Given the description of an element on the screen output the (x, y) to click on. 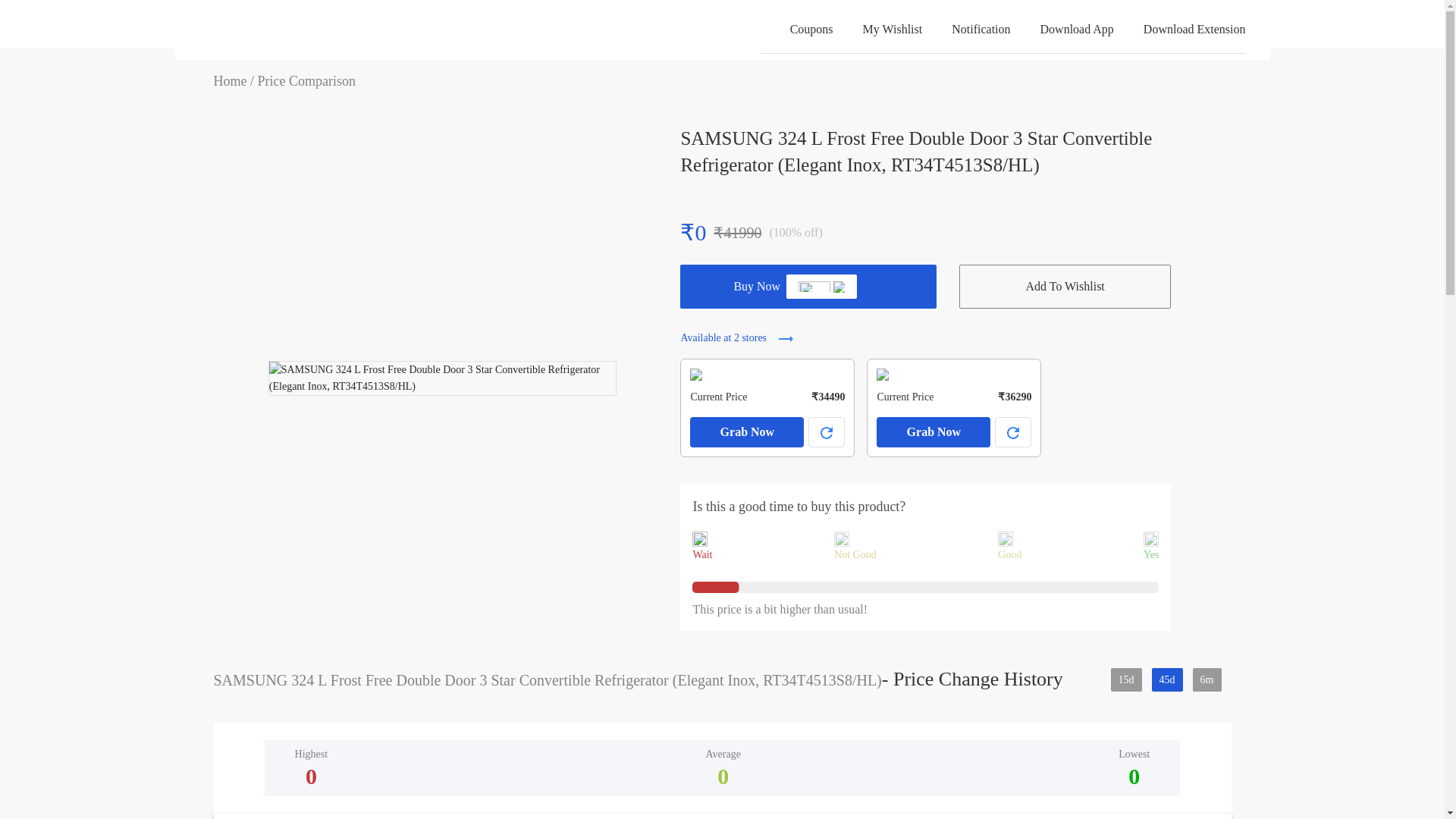
45d (1166, 679)
Download Extension (1179, 29)
15d (1125, 679)
6m (1206, 679)
Grab Now (746, 431)
Home (230, 80)
Add To Wishlist (1065, 286)
Download App (1061, 29)
Grab Now (933, 431)
Buy Now (807, 286)
